Given the description of an element on the screen output the (x, y) to click on. 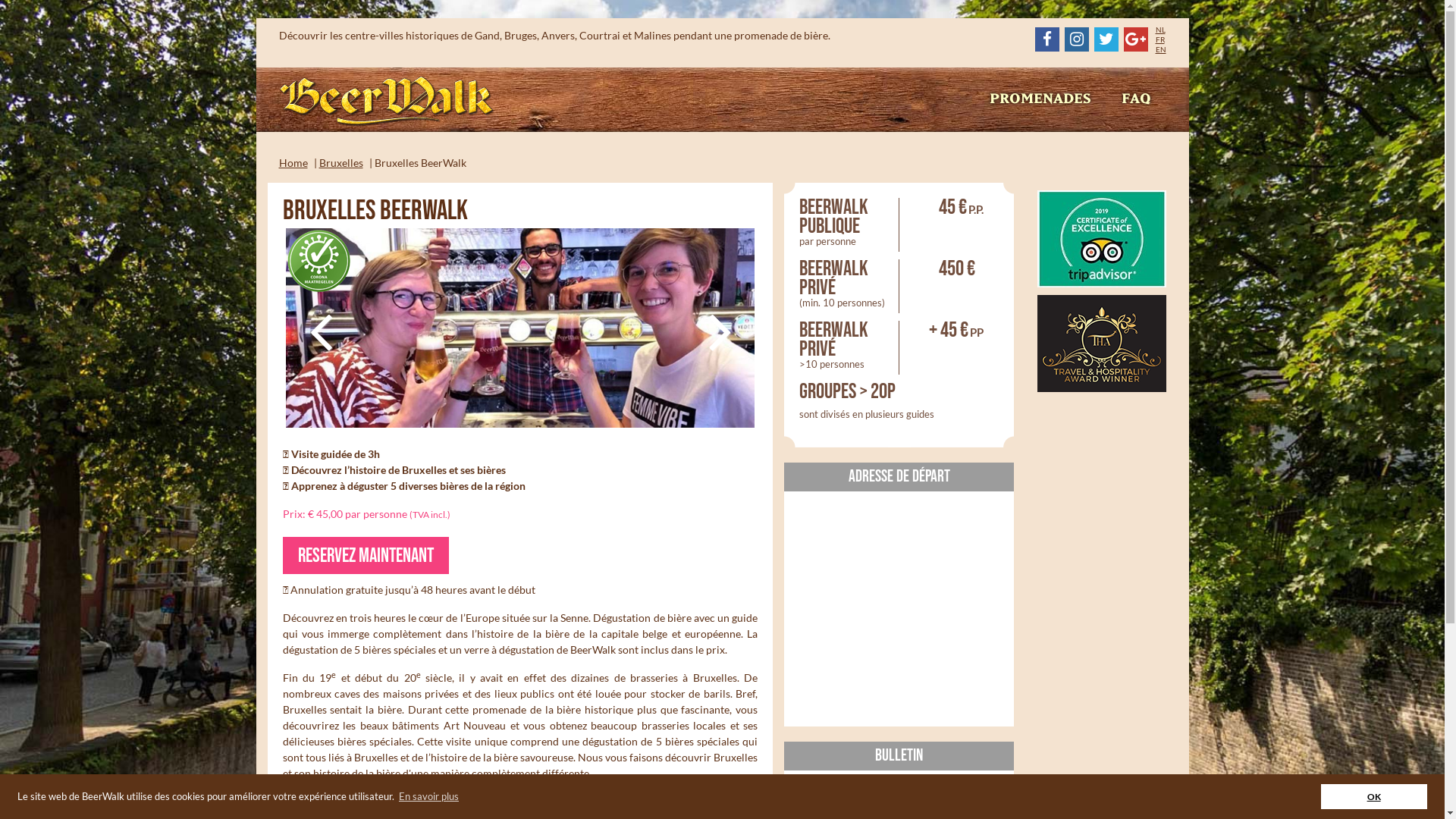
BeerWalk Twitter Element type: hover (1105, 39)
Bruxelles BeerWalk Element type: hover (519, 327)
FR Element type: text (1159, 38)
OK Element type: text (1374, 796)
Bruxelles Element type: text (340, 162)
BeerWalk GooglePlus Element type: hover (1135, 39)
BeerWalk - Historische stadswandelingen Element type: hover (387, 100)
BeerWalk Instagram Element type: hover (1076, 39)
BeerWalk - Historische stadswandelingen Element type: hover (387, 101)
En savoir plus Element type: text (428, 796)
EN Element type: text (1160, 48)
BeerWalk Facebook Element type: hover (1046, 39)
RESERVEZ MAINTENANT Element type: text (365, 555)
Home Element type: text (293, 162)
faq Element type: text (1135, 98)
promenades Element type: text (1039, 98)
NL Element type: text (1160, 29)
